Given the description of an element on the screen output the (x, y) to click on. 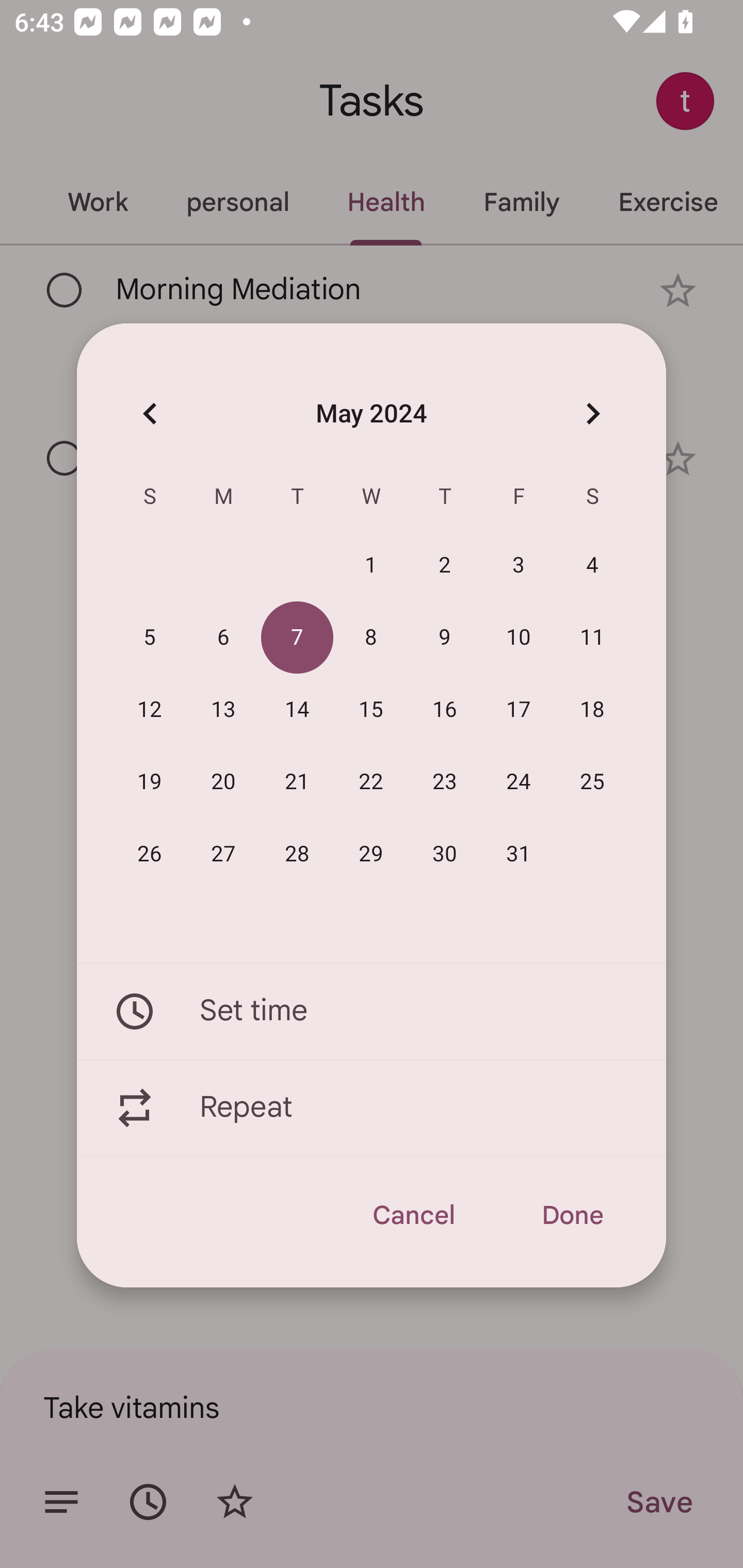
Previous month (149, 413)
Next month (592, 413)
1 01 May 2024 (370, 565)
2 02 May 2024 (444, 565)
3 03 May 2024 (518, 565)
4 04 May 2024 (592, 565)
5 05 May 2024 (149, 638)
6 06 May 2024 (223, 638)
7 07 May 2024 (297, 638)
8 08 May 2024 (370, 638)
9 09 May 2024 (444, 638)
10 10 May 2024 (518, 638)
11 11 May 2024 (592, 638)
12 12 May 2024 (149, 710)
13 13 May 2024 (223, 710)
14 14 May 2024 (297, 710)
15 15 May 2024 (370, 710)
16 16 May 2024 (444, 710)
17 17 May 2024 (518, 710)
18 18 May 2024 (592, 710)
19 19 May 2024 (149, 782)
20 20 May 2024 (223, 782)
21 21 May 2024 (297, 782)
22 22 May 2024 (370, 782)
23 23 May 2024 (444, 782)
24 24 May 2024 (518, 782)
25 25 May 2024 (592, 782)
26 26 May 2024 (149, 854)
27 27 May 2024 (223, 854)
28 28 May 2024 (297, 854)
29 29 May 2024 (370, 854)
30 30 May 2024 (444, 854)
31 31 May 2024 (518, 854)
Set time (371, 1011)
Repeat (371, 1108)
Cancel (412, 1215)
Done (571, 1215)
